Given the description of an element on the screen output the (x, y) to click on. 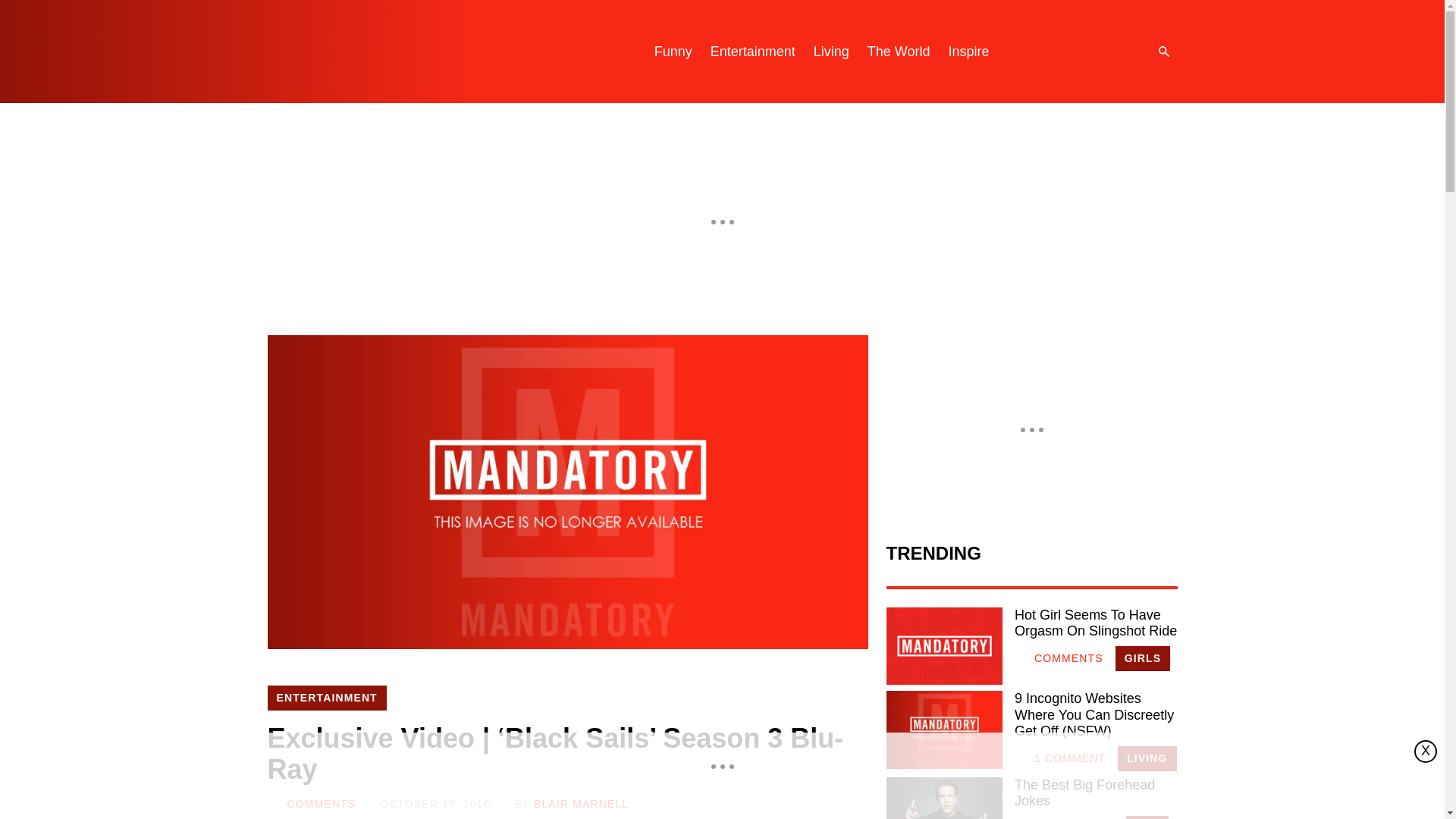
Funny (673, 51)
The Best Big Forehead Jokes (1095, 793)
Hot Girl Seems To Have Orgasm On Slingshot Ride (944, 645)
LIVING (1147, 758)
1 COMMENT (1059, 757)
ENTERTAINMENT (325, 697)
The Best Big Forehead Jokes (1095, 793)
Hot Girl Seems To Have Orgasm On Slingshot Ride (1095, 623)
FUN (1147, 817)
Hot Girl Seems To Have Orgasm On Slingshot Ride (1095, 623)
Inspire (968, 51)
Facebook (1109, 51)
Instagram (1048, 51)
GIRLS (1142, 658)
Entertainment (753, 51)
